Given the description of an element on the screen output the (x, y) to click on. 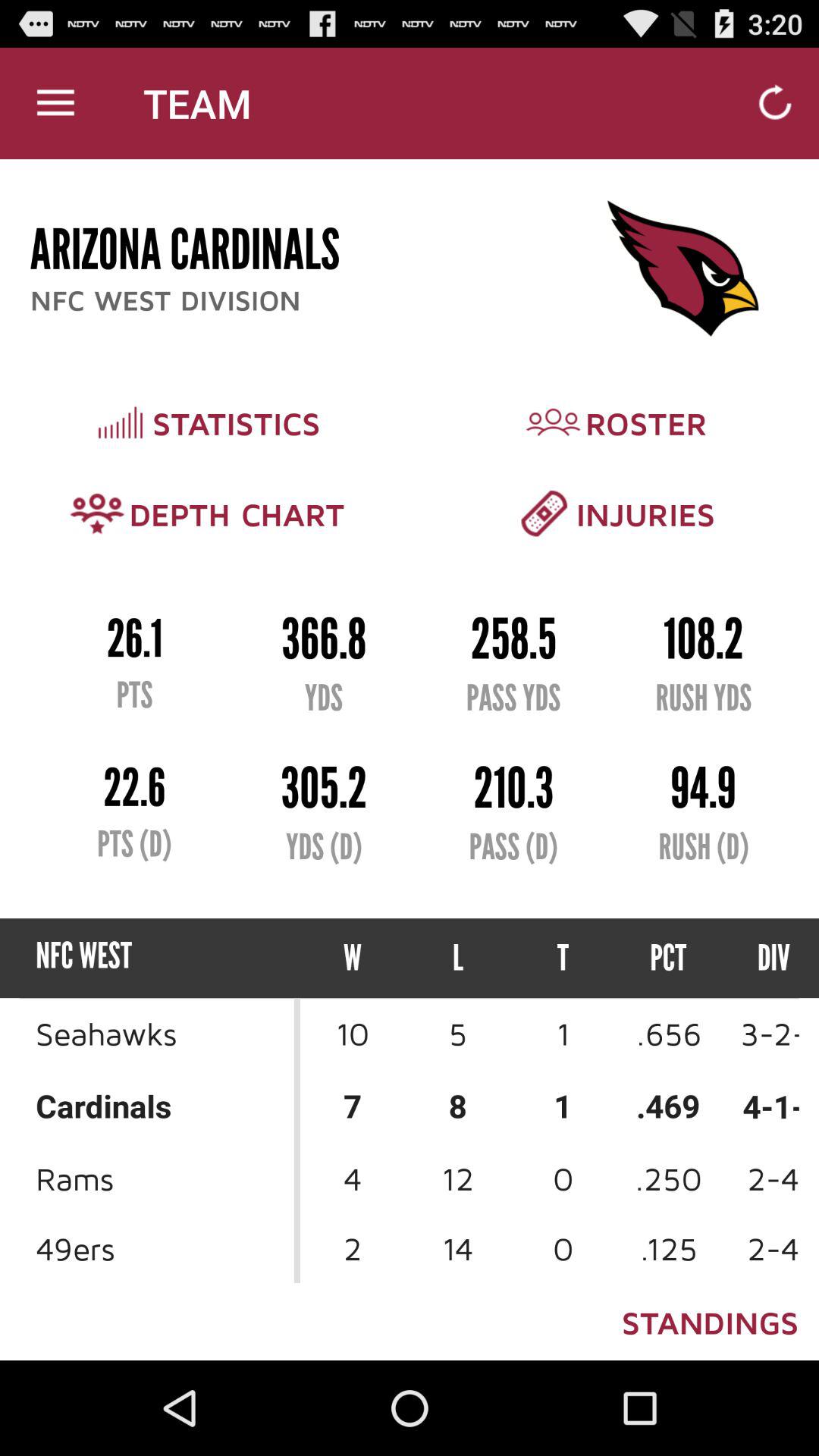
tap item above arizona cardinals (55, 103)
